Given the description of an element on the screen output the (x, y) to click on. 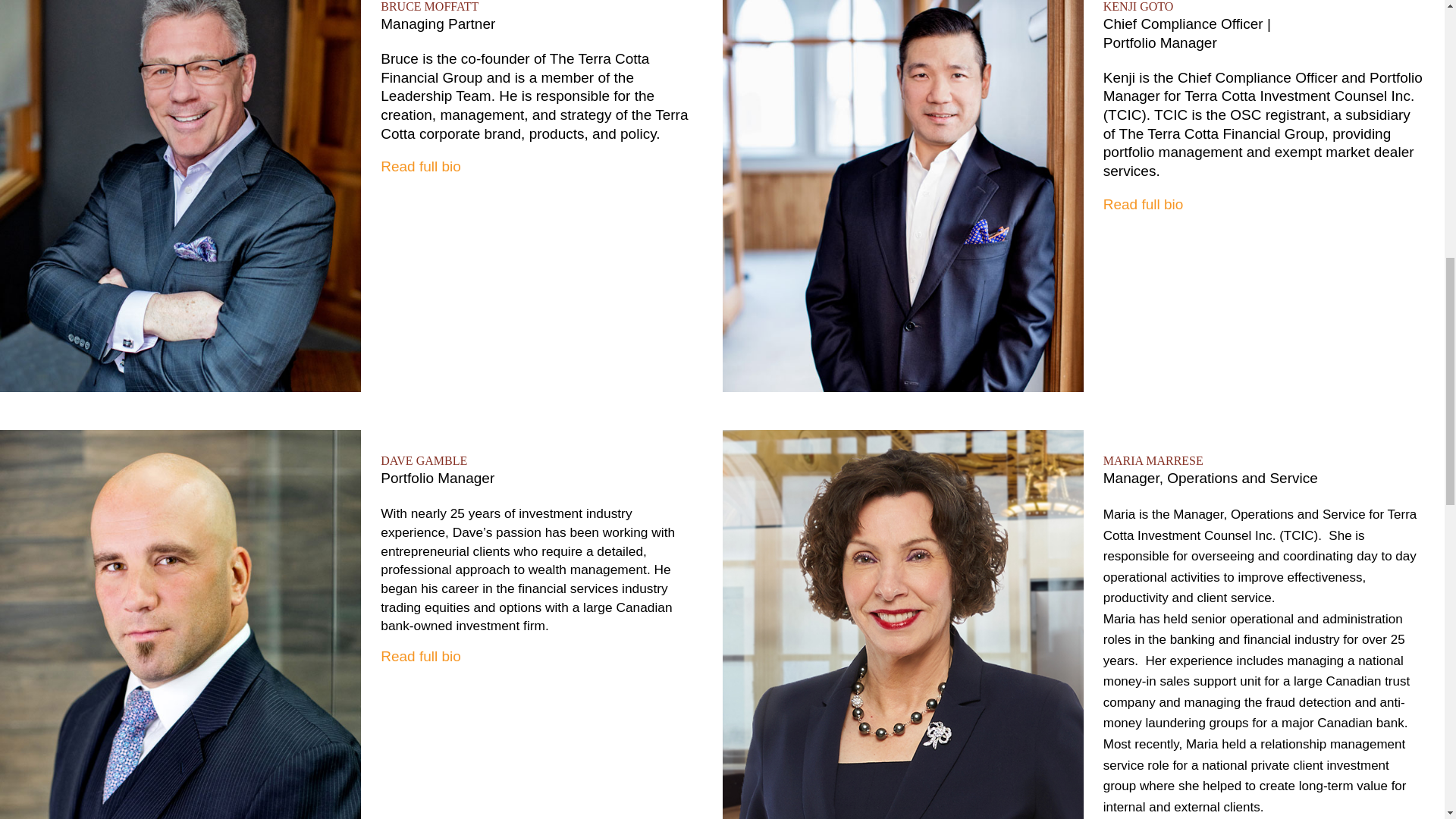
Read full bio (420, 656)
Read full bio (1143, 204)
Read full bio (420, 166)
